Given the description of an element on the screen output the (x, y) to click on. 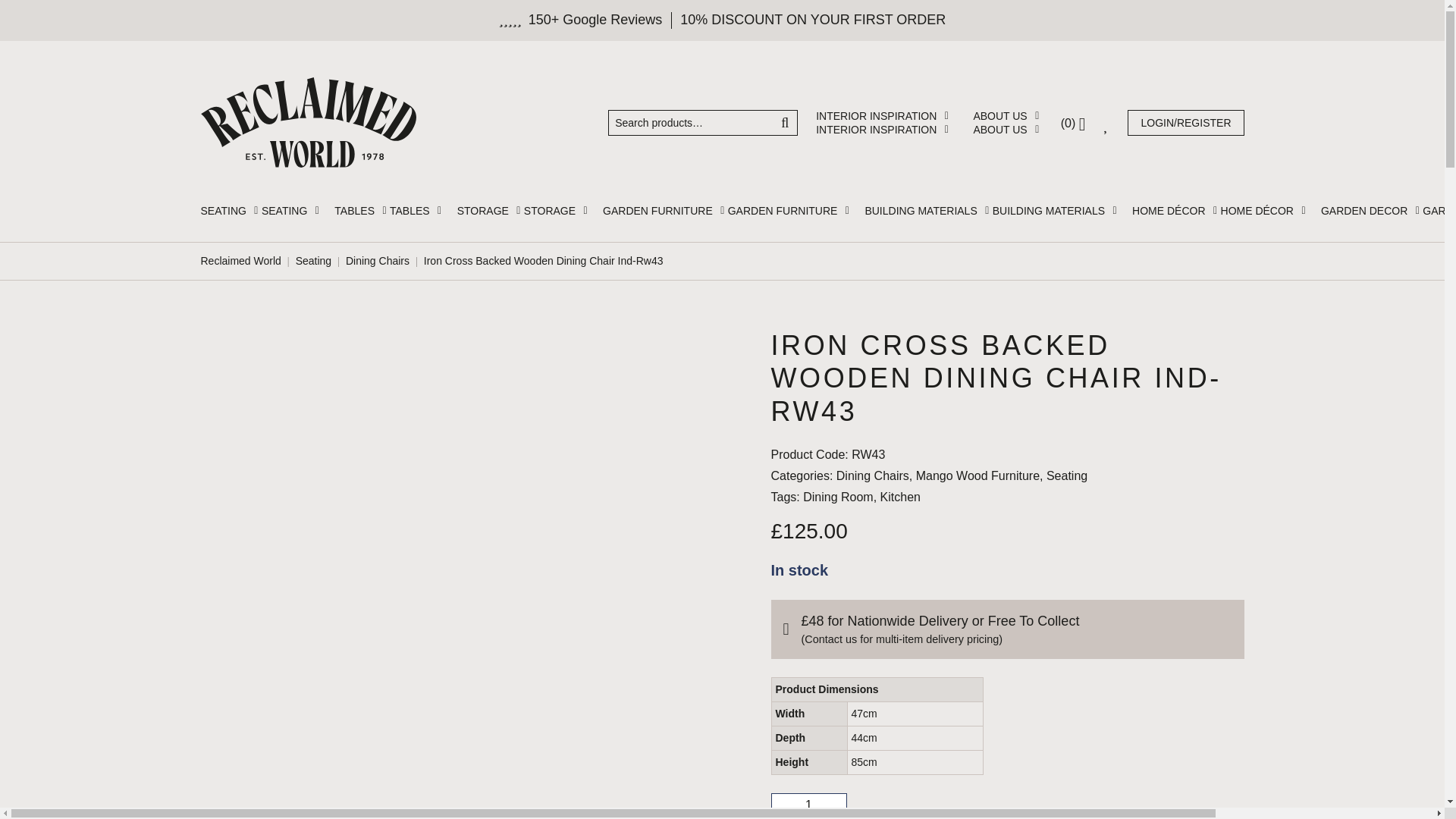
View your shopping cart (1073, 123)
TABLES (362, 210)
Reclaimed World (307, 122)
1 (807, 805)
ABOUT US (1007, 115)
SEATING (230, 210)
Search (785, 121)
